Given the description of an element on the screen output the (x, y) to click on. 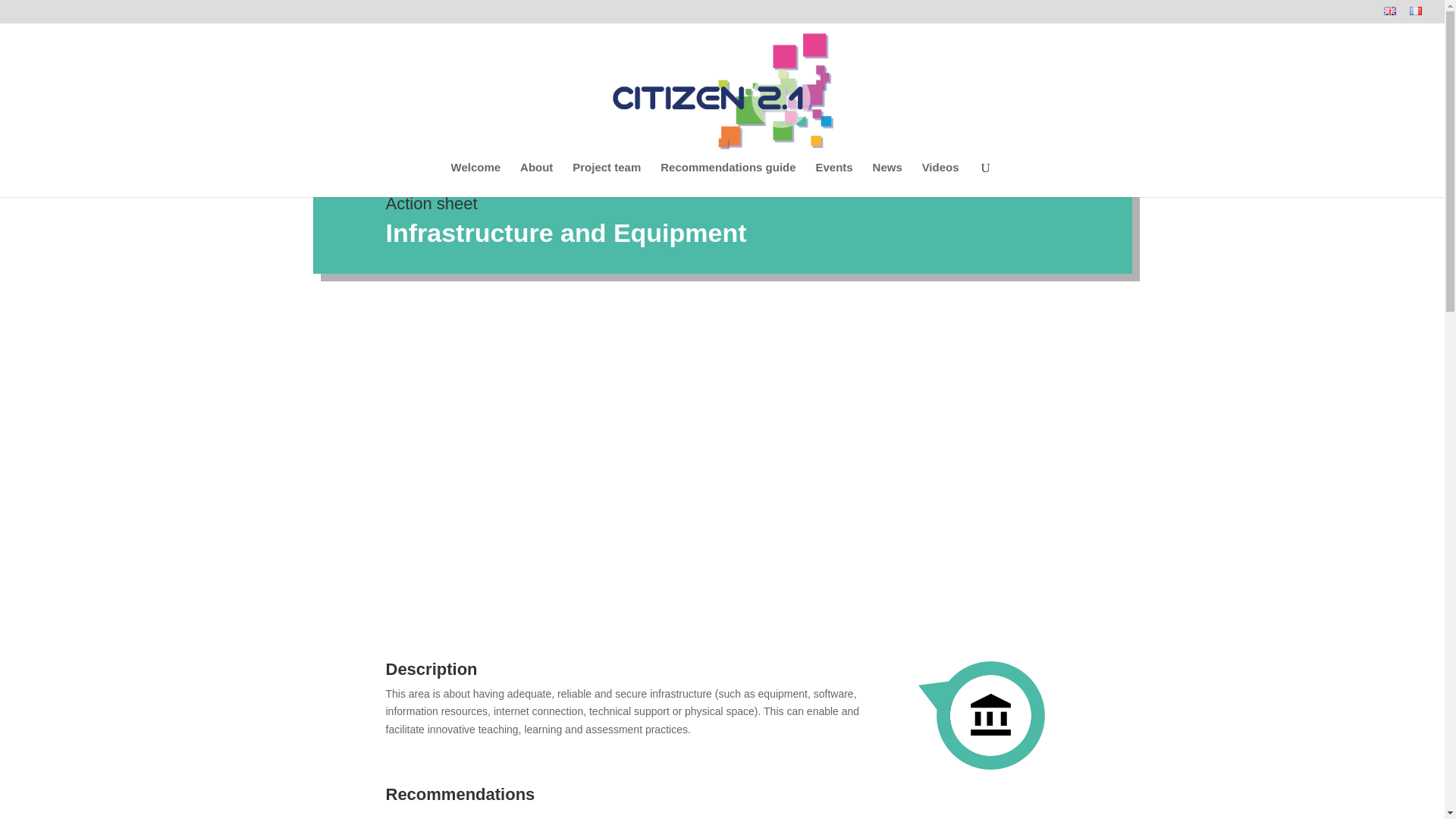
Recommendations guide (727, 179)
Videos (940, 179)
Project team (606, 179)
Events (833, 179)
Welcome (475, 179)
About (536, 179)
